Given the description of an element on the screen output the (x, y) to click on. 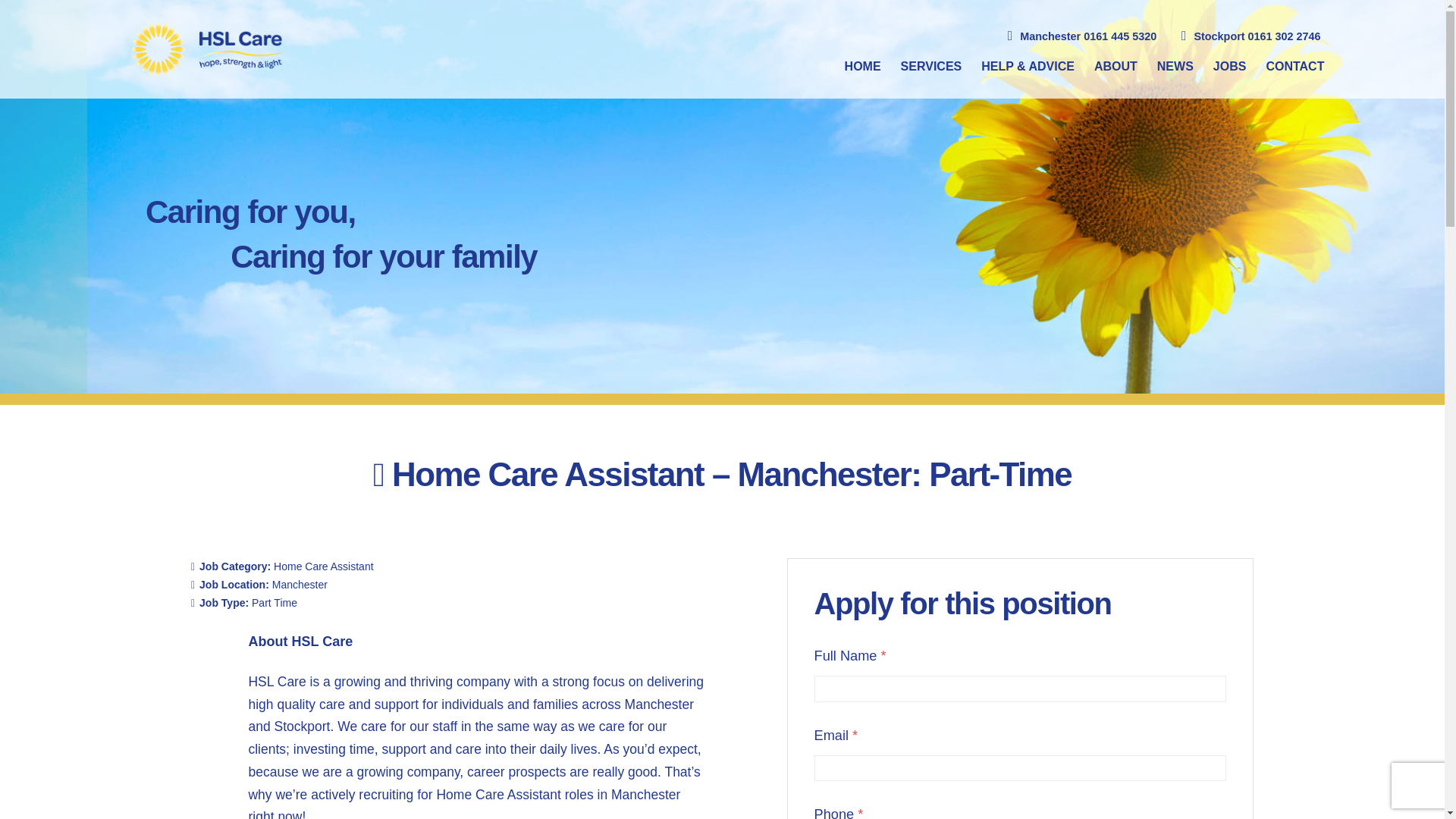
ABOUT (1109, 66)
JOBS (1223, 66)
Stockport 0161 302 2746 (1248, 36)
NEWS (1168, 66)
HOME (856, 66)
Manchester 0161 445 5320 (1081, 36)
SERVICES (925, 66)
reCAPTCHA (1423, 785)
CONTACT (1288, 66)
